Given the description of an element on the screen output the (x, y) to click on. 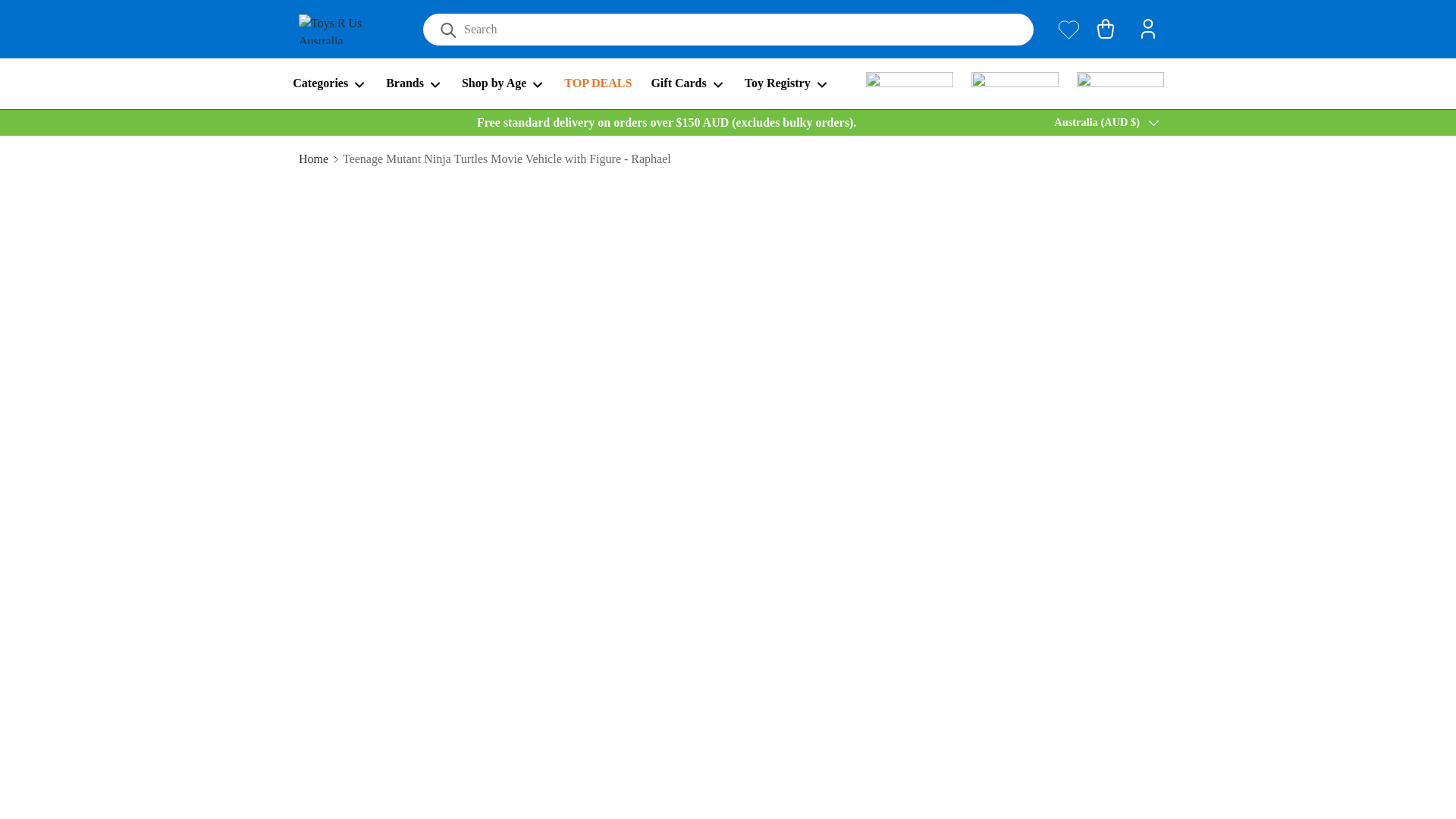
Search (440, 31)
Log in (1147, 28)
Skip to content (69, 21)
Brands (413, 83)
Bag (1105, 28)
Categories (329, 83)
